Given the description of an element on the screen output the (x, y) to click on. 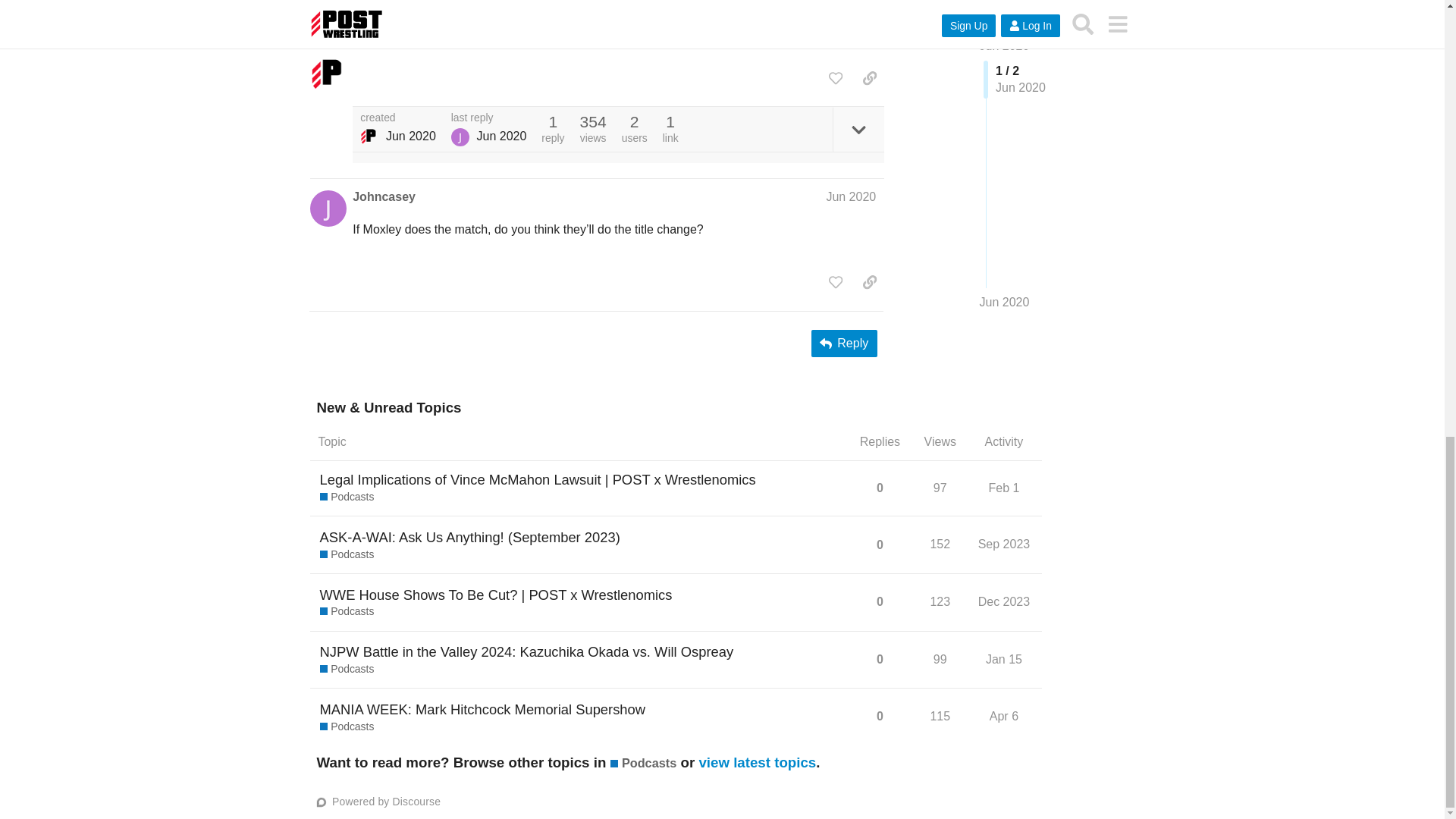
expand topic details (857, 129)
Twitter (418, 24)
system (368, 136)
Facebook (474, 24)
Jun 25, 2020 12:42 pm (410, 135)
Instagram (542, 24)
like this post (835, 77)
copy a link to this post to clipboard (869, 77)
YouTube (606, 24)
John Casey (459, 136)
